Given the description of an element on the screen output the (x, y) to click on. 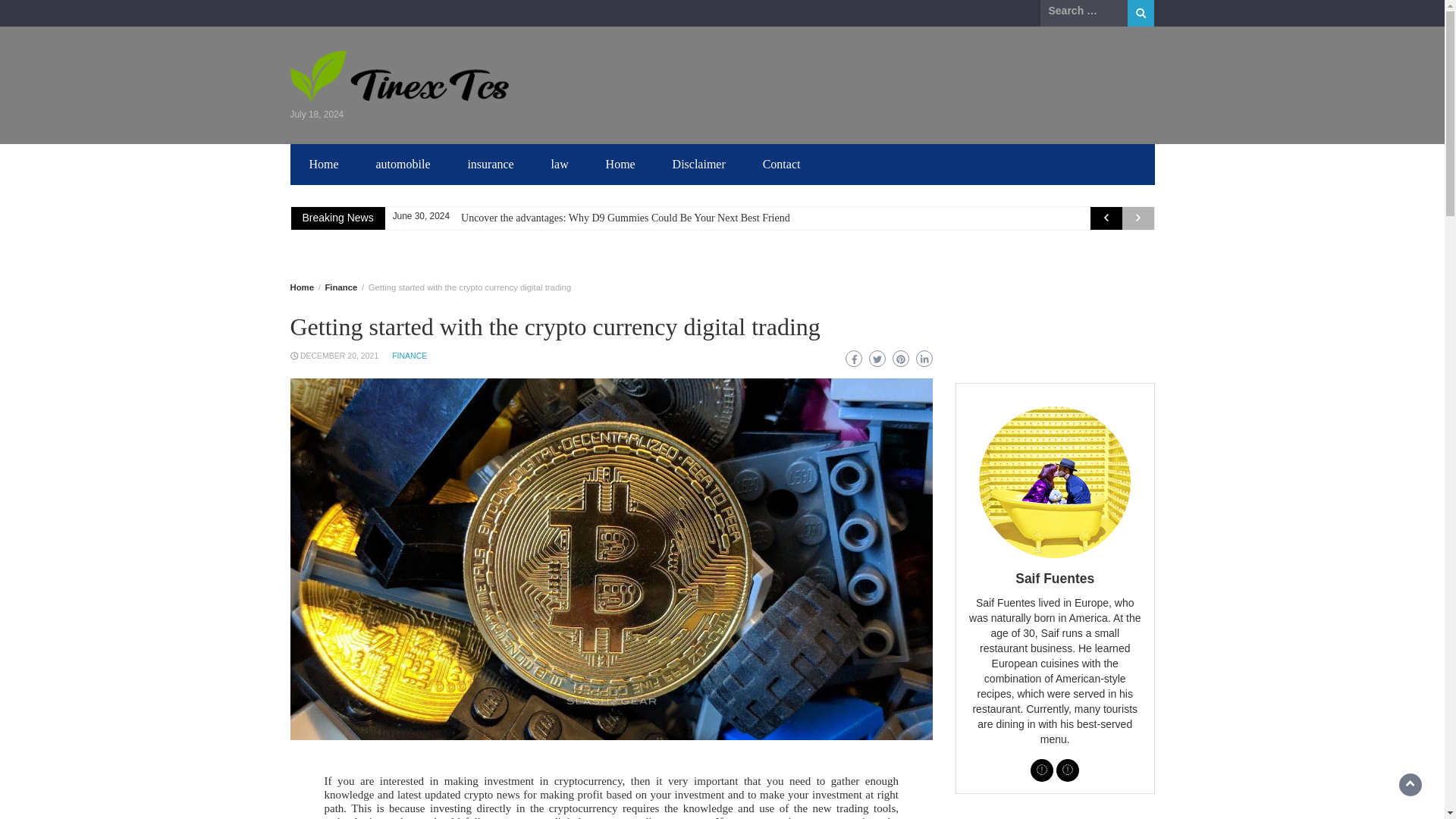
Disclaimer (699, 164)
Home (301, 286)
Search for: (1083, 11)
Home (620, 164)
Search (1140, 13)
Search (1140, 13)
Search (1140, 13)
DECEMBER 20, 2021 (338, 355)
Contact (781, 164)
insurance (489, 164)
FINANCE (408, 355)
Home (323, 164)
law (559, 164)
automobile (403, 164)
